Given the description of an element on the screen output the (x, y) to click on. 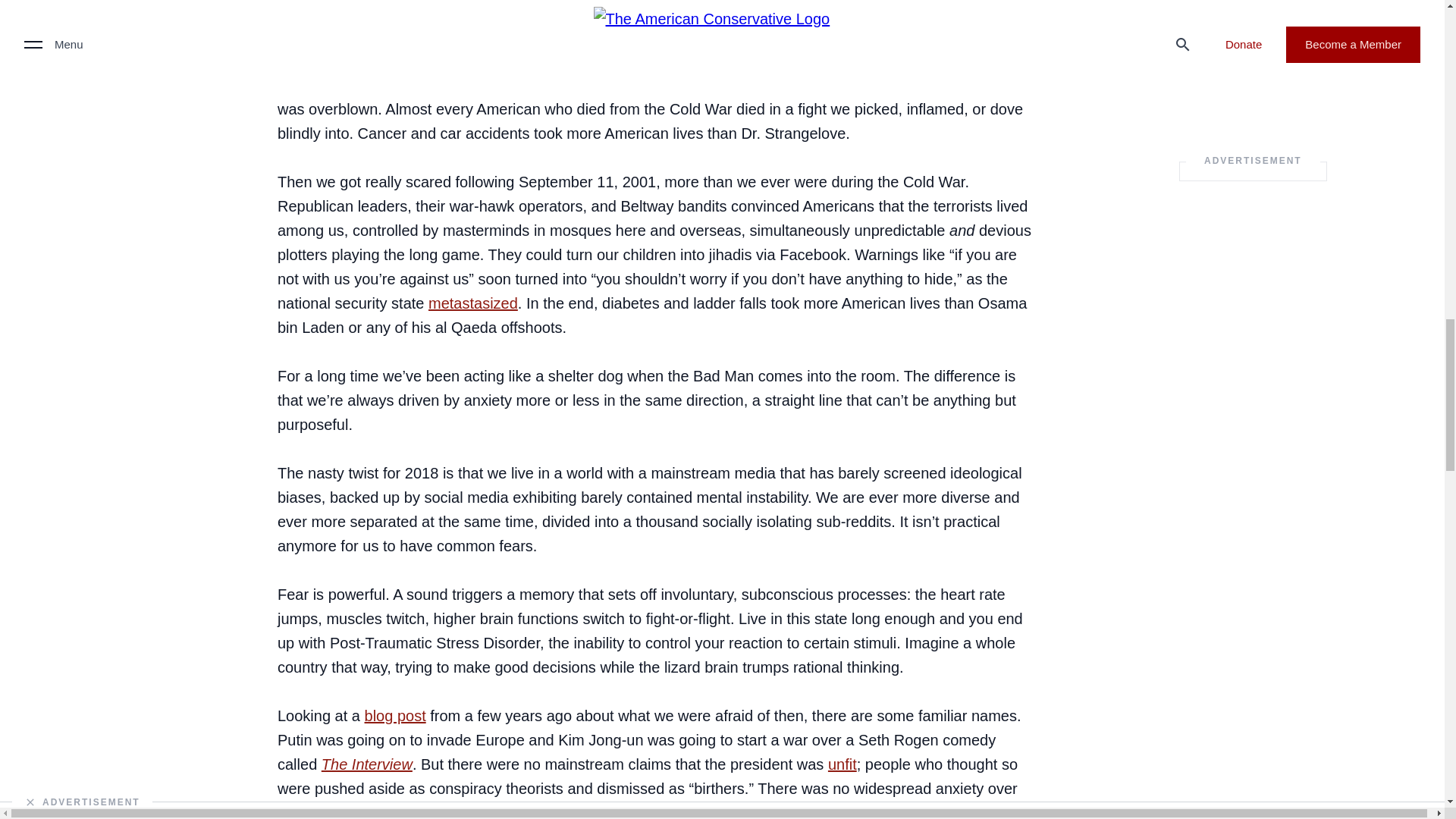
The Interview (366, 764)
metastasized (473, 303)
unfit (842, 764)
blog post (395, 715)
